Given the description of an element on the screen output the (x, y) to click on. 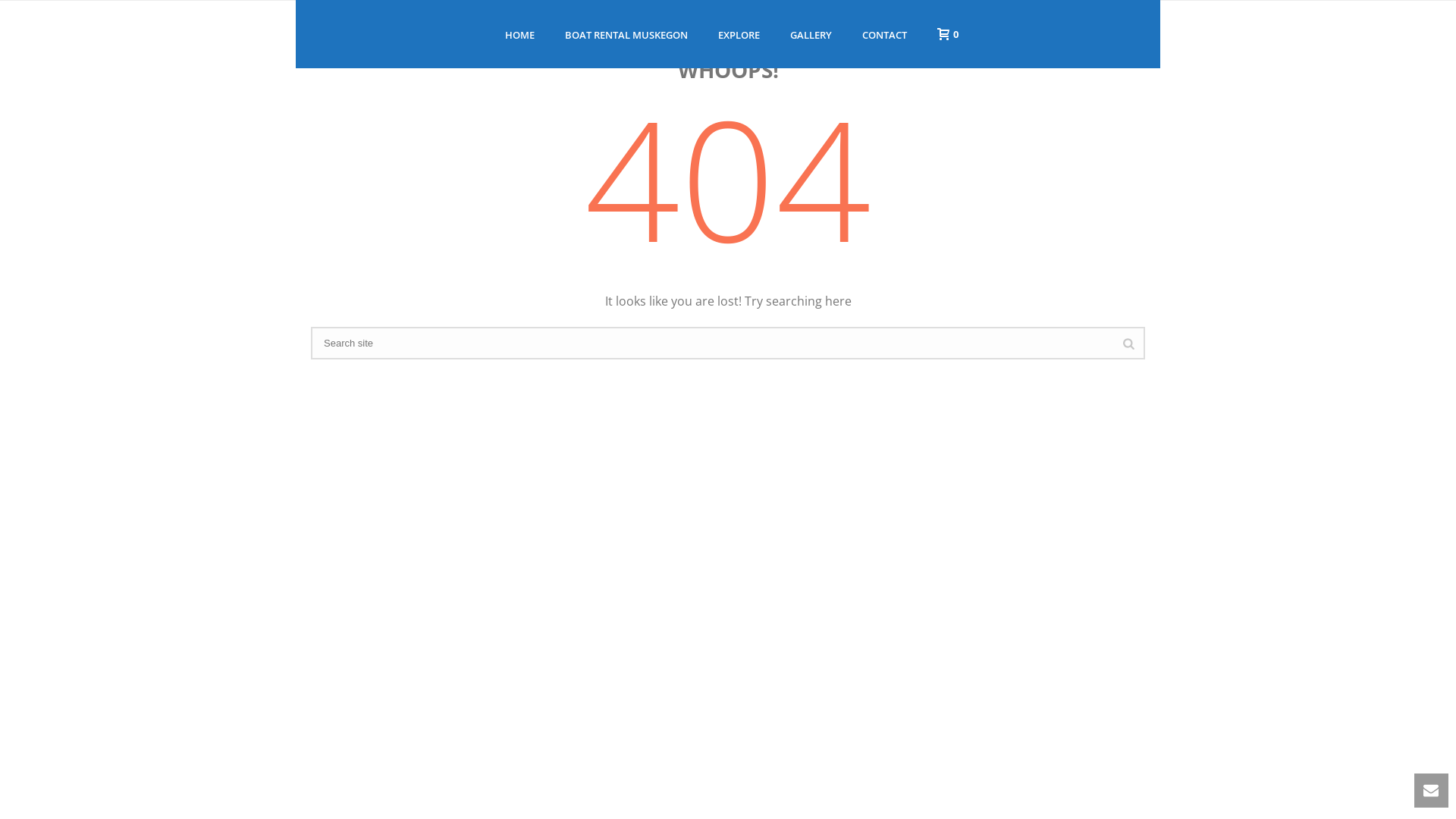
0 Element type: text (944, 33)
HOME Element type: text (519, 34)
EXPLORE Element type: text (738, 34)
BOAT RENTAL MUSKEGON Element type: text (625, 34)
CONTACT Element type: text (884, 34)
GALLERY Element type: text (811, 34)
